Given the description of an element on the screen output the (x, y) to click on. 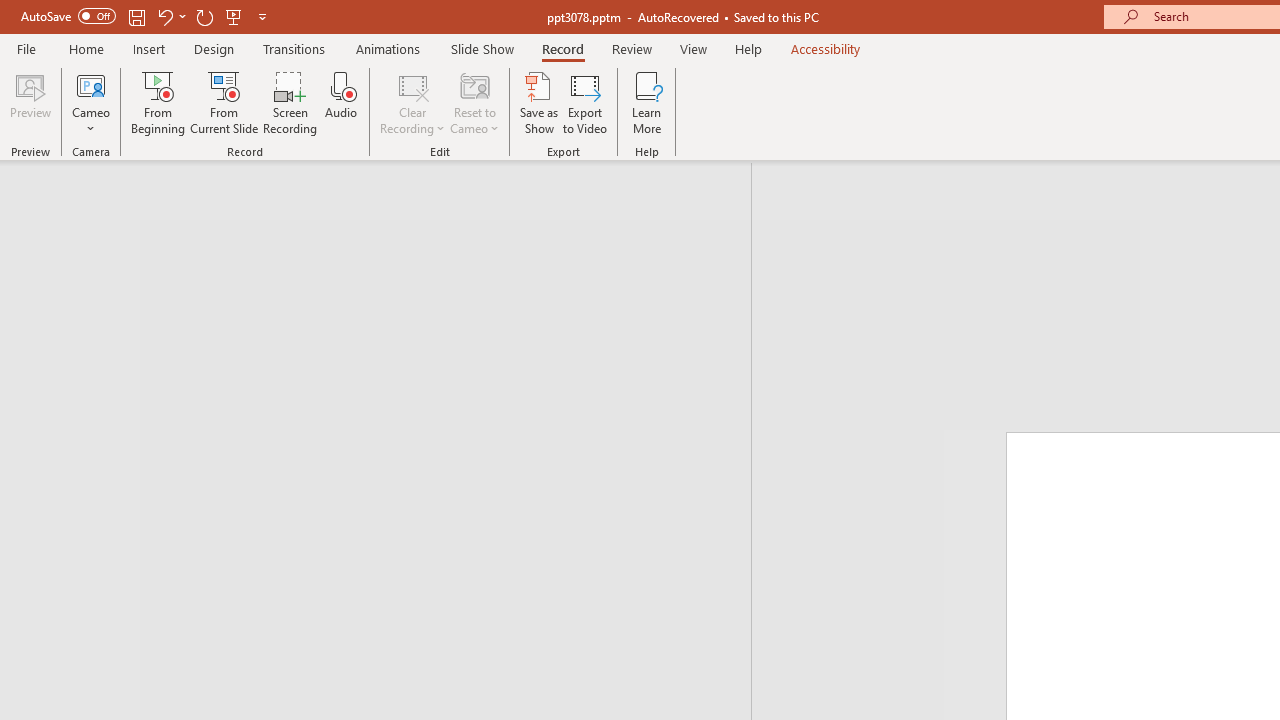
AutoSave (68, 16)
Insert (149, 48)
Quick Access Toolbar (145, 16)
System (10, 11)
Clear Recording (412, 102)
Customize Quick Access Toolbar (262, 15)
Animations (388, 48)
Record (562, 48)
File Tab (26, 48)
Screen Recording (290, 102)
Transitions (294, 48)
Cameo (91, 102)
Outline (384, 215)
Home (86, 48)
Save as Show (539, 102)
